Given the description of an element on the screen output the (x, y) to click on. 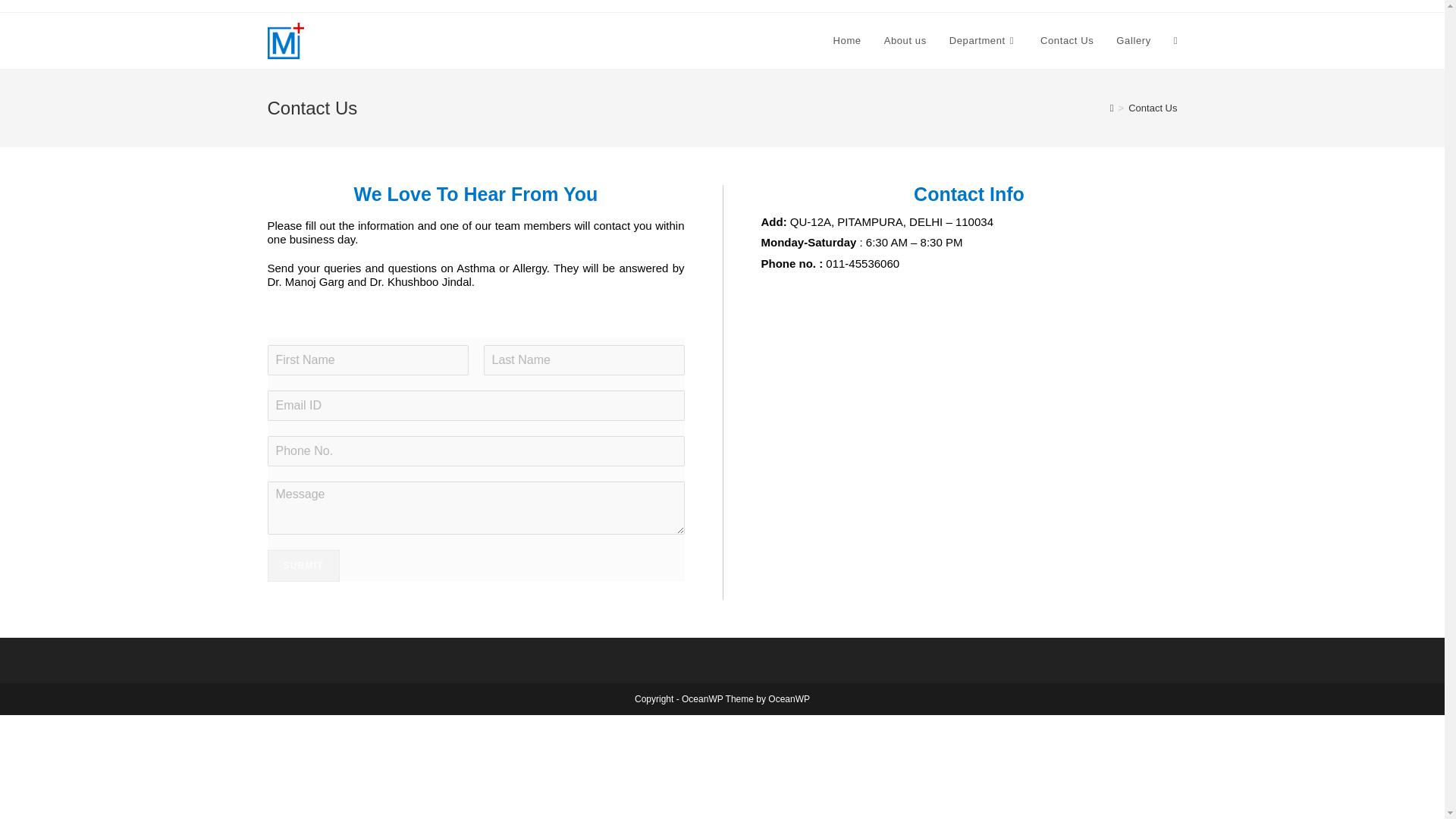
SUBMIT (302, 565)
Home (847, 40)
Contact Us (1152, 107)
Gallery (1133, 40)
Contact Us (1067, 40)
Department (983, 40)
About us (904, 40)
